Given the description of an element on the screen output the (x, y) to click on. 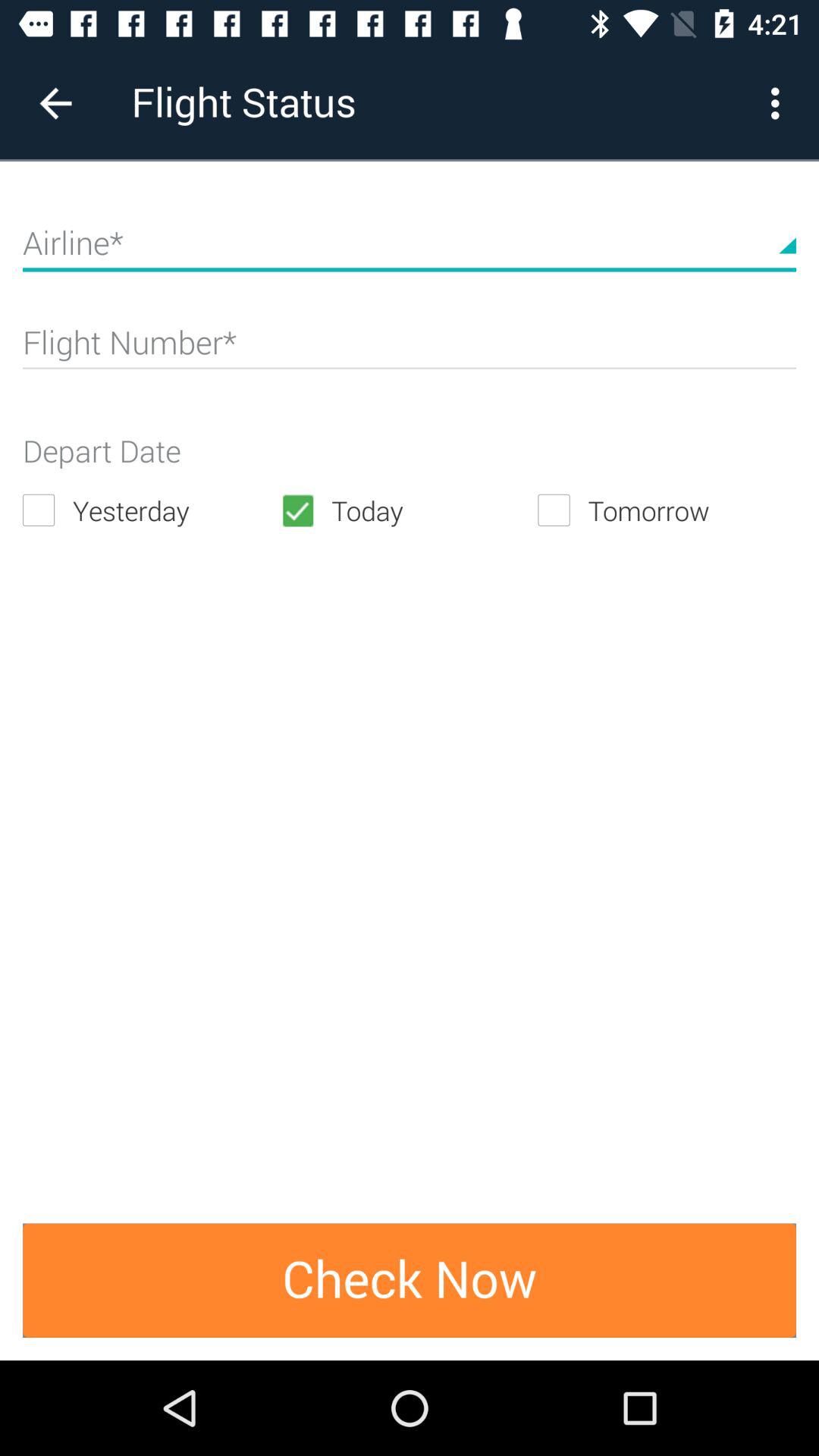
turn on item next to flight status item (55, 103)
